Given the description of an element on the screen output the (x, y) to click on. 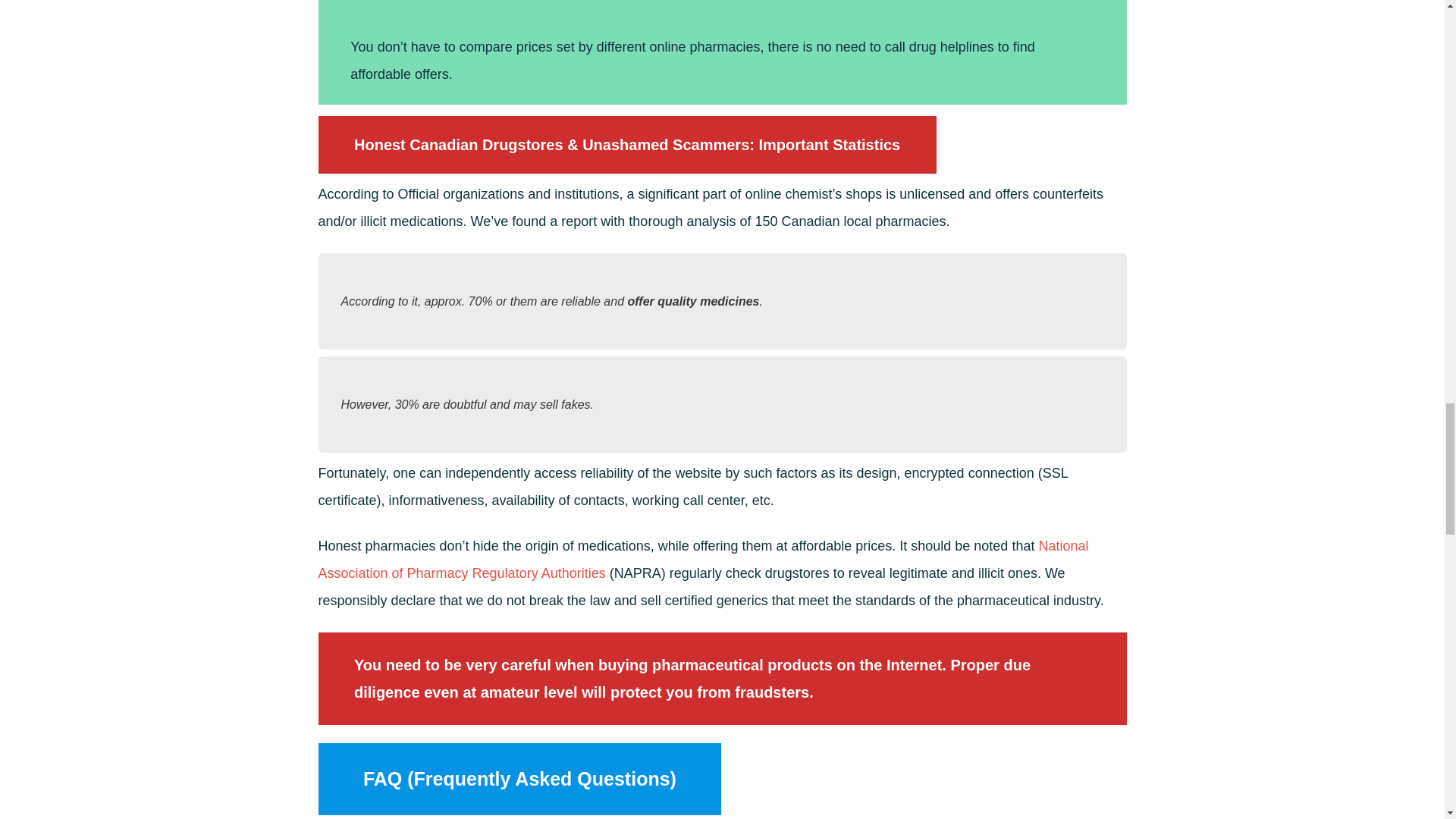
National Association of Pharmacy Regulatory Authorities (703, 559)
